Given the description of an element on the screen output the (x, y) to click on. 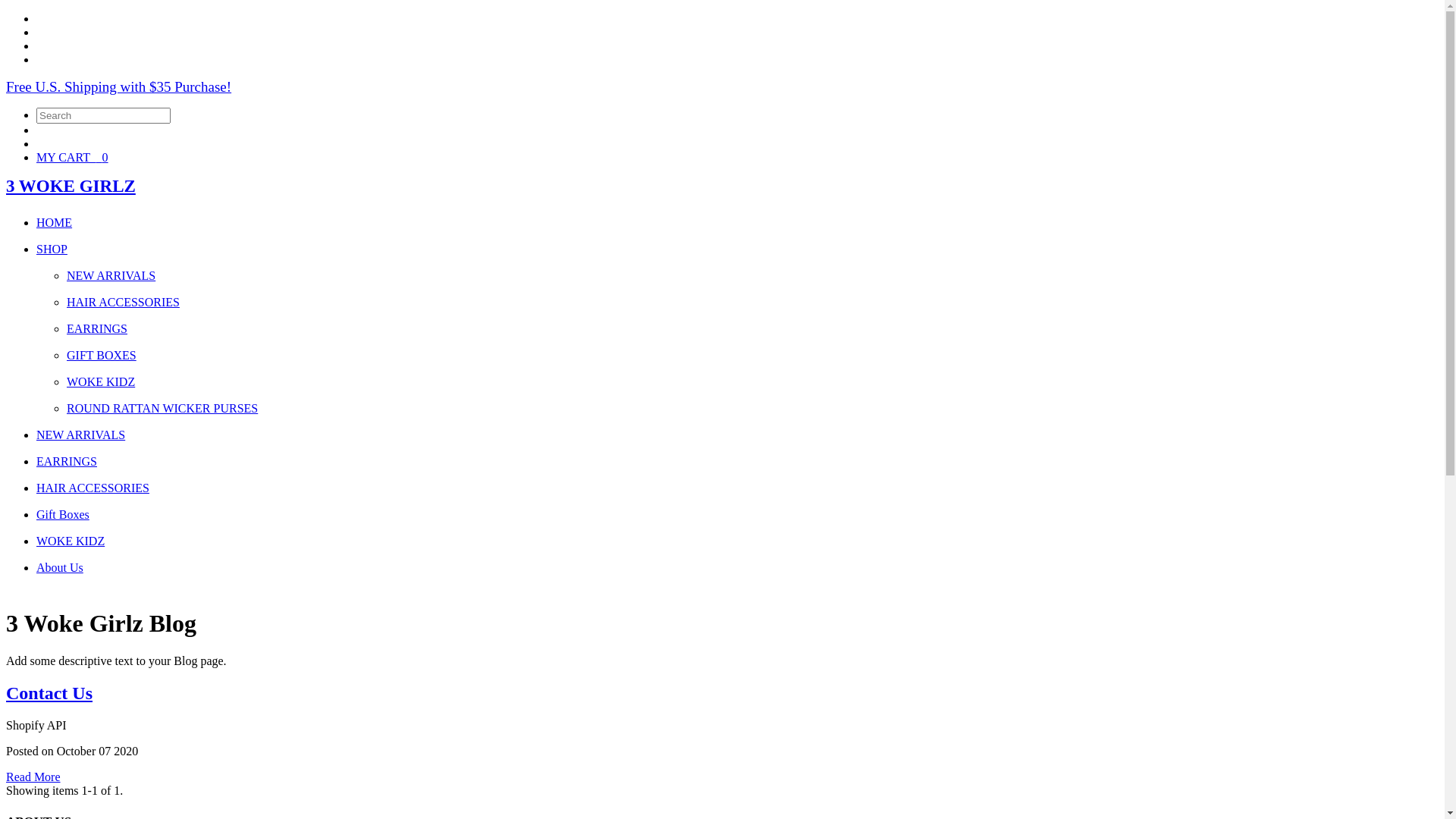
Read More Element type: text (33, 776)
HAIR ACCESSORIES Element type: text (92, 487)
3 WOKE GIRLZ Element type: text (70, 185)
WOKE KIDZ Element type: text (100, 381)
SHOP Element type: text (51, 248)
Contact Us Element type: text (49, 692)
HOME Element type: text (54, 222)
About Us Element type: text (59, 567)
MY CART    0 Element type: text (72, 156)
NEW ARRIVALS Element type: text (80, 434)
NEW ARRIVALS Element type: text (110, 275)
GIFT BOXES Element type: text (101, 354)
WOKE KIDZ Element type: text (70, 540)
ROUND RATTAN WICKER PURSES Element type: text (161, 407)
EARRINGS Element type: text (66, 461)
HAIR ACCESSORIES Element type: text (122, 301)
Free U.S. Shipping with $35 Purchase! Element type: text (118, 86)
Gift Boxes Element type: text (62, 514)
EARRINGS Element type: text (96, 328)
